Given the description of an element on the screen output the (x, y) to click on. 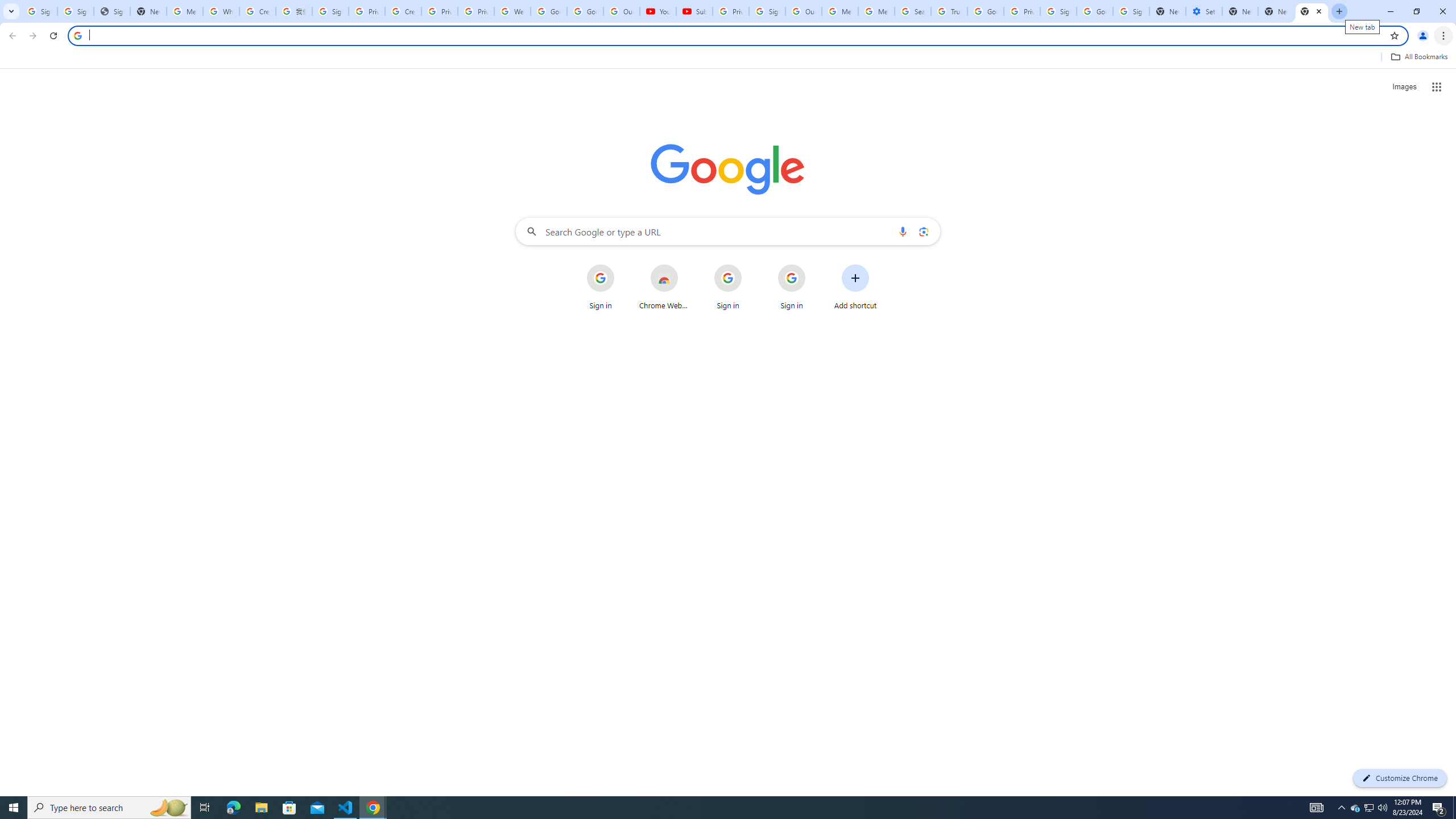
Google Ads - Sign in (985, 11)
Settings - Performance (1203, 11)
Search our Doodle Library Collection - Google Doodles (912, 11)
Sign in - Google Accounts (75, 11)
Chrome Web Store (663, 287)
New Tab (1311, 11)
Sign in - Google Accounts (1131, 11)
